Given the description of an element on the screen output the (x, y) to click on. 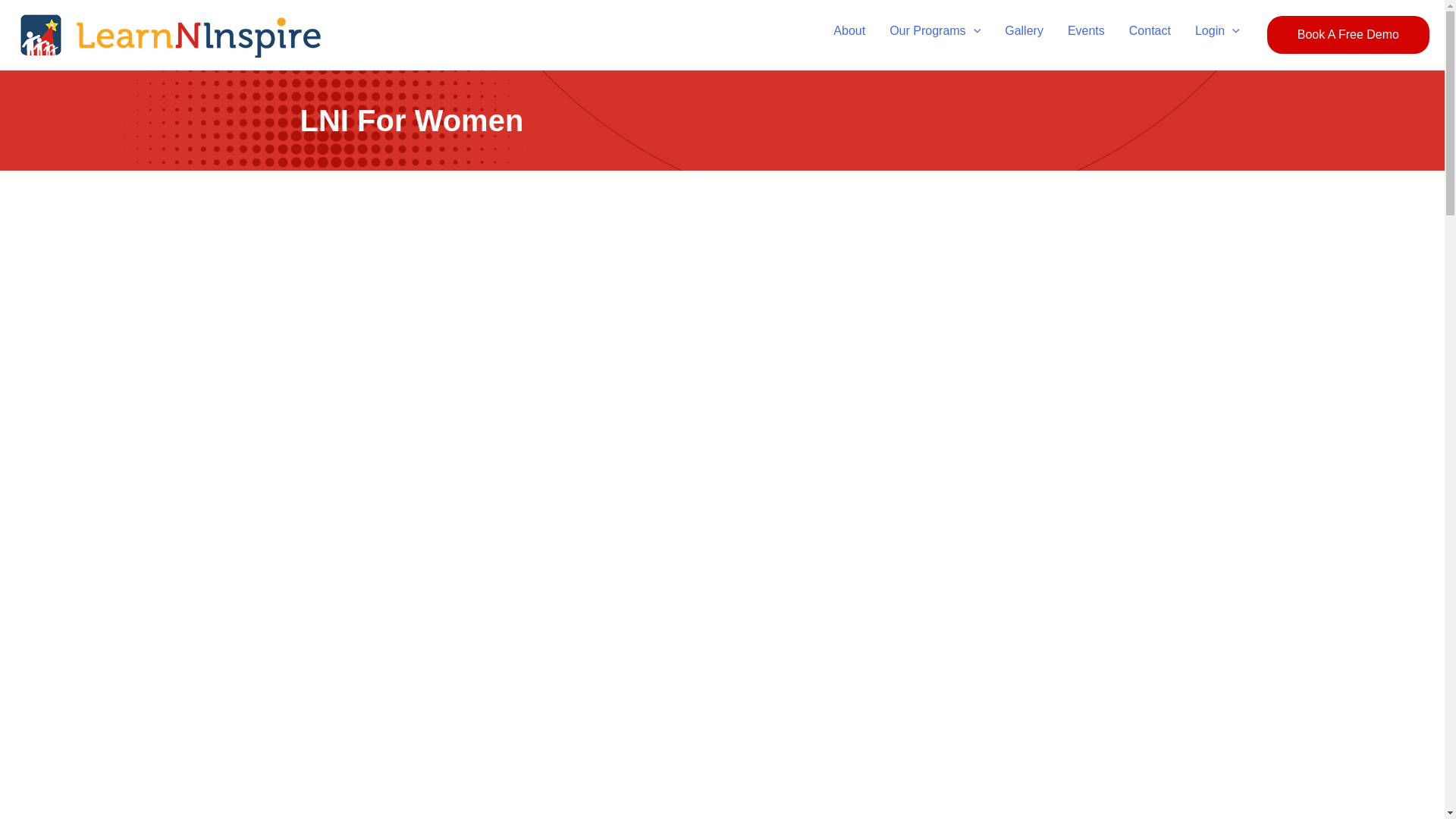
Gallery (1023, 38)
Events (1085, 38)
Book A Free Demo (1347, 34)
About (849, 38)
Our Programs (934, 38)
Login (1217, 38)
Contact (1149, 38)
